Given the description of an element on the screen output the (x, y) to click on. 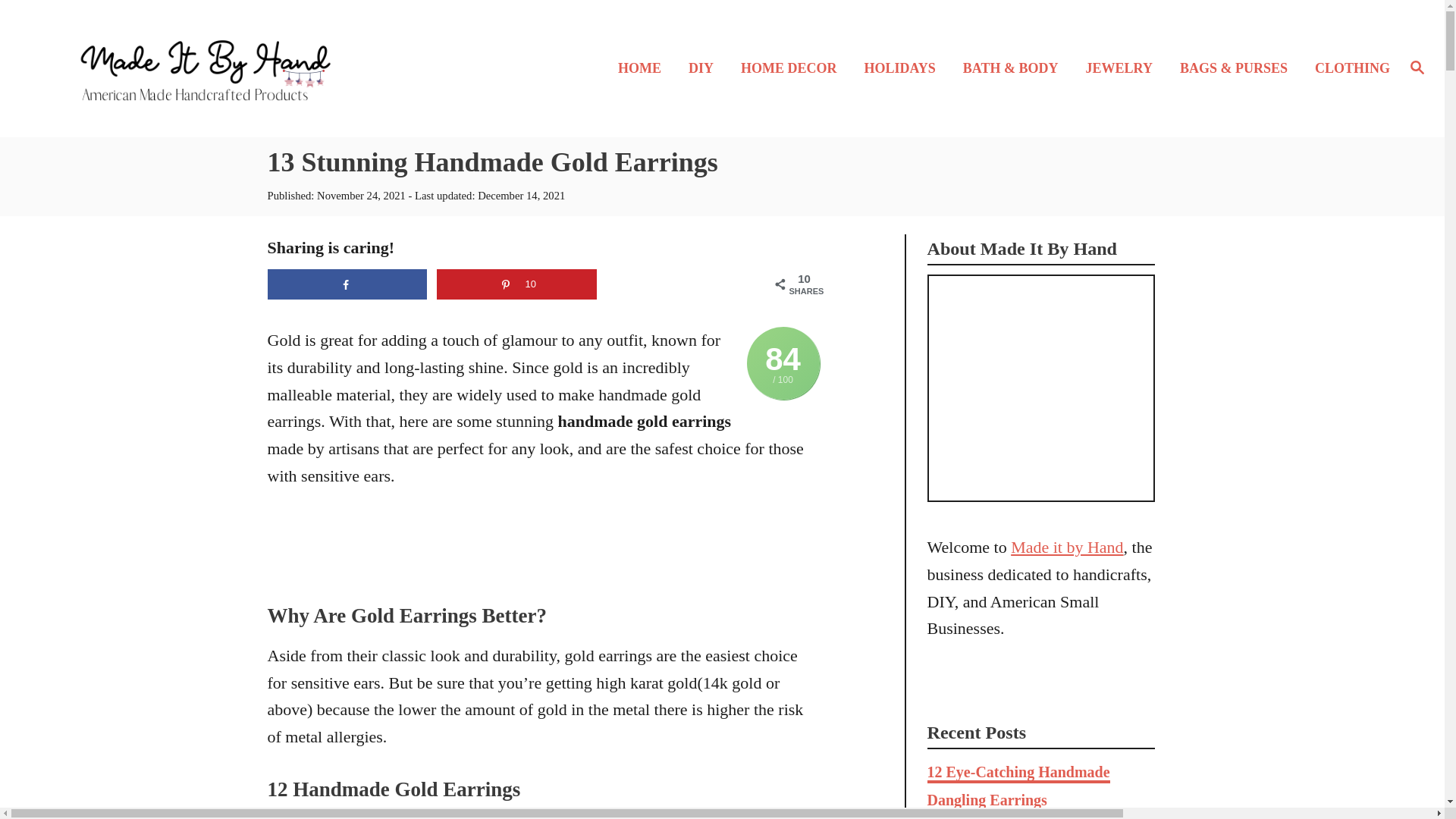
Permalink to 12 Eye-Catching Handmade Dangling Earrings (1017, 787)
Magnifying Glass (1416, 67)
HOME DECOR (794, 68)
Share on Facebook (346, 284)
DIY (705, 68)
Save to Pinterest (516, 284)
HOLIDAYS (903, 68)
HOME (643, 68)
JEWELRY (1123, 68)
10 (516, 284)
